Given the description of an element on the screen output the (x, y) to click on. 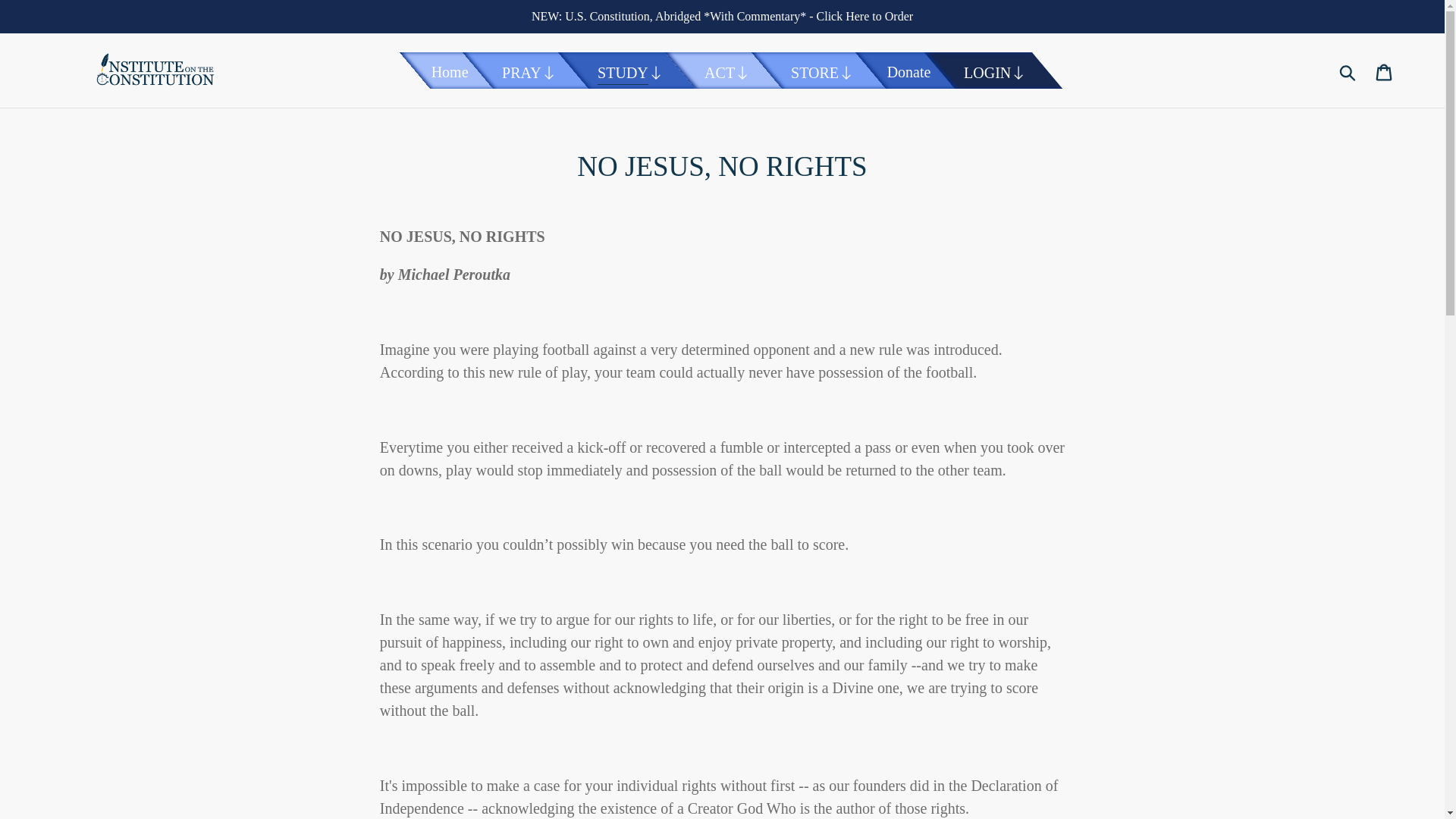
Home (449, 71)
Submit (1348, 70)
STORE (821, 71)
ACT (726, 71)
PRAY (529, 71)
Donate (908, 71)
LOGIN (994, 71)
STUDY (630, 71)
Cart (1385, 70)
